Given the description of an element on the screen output the (x, y) to click on. 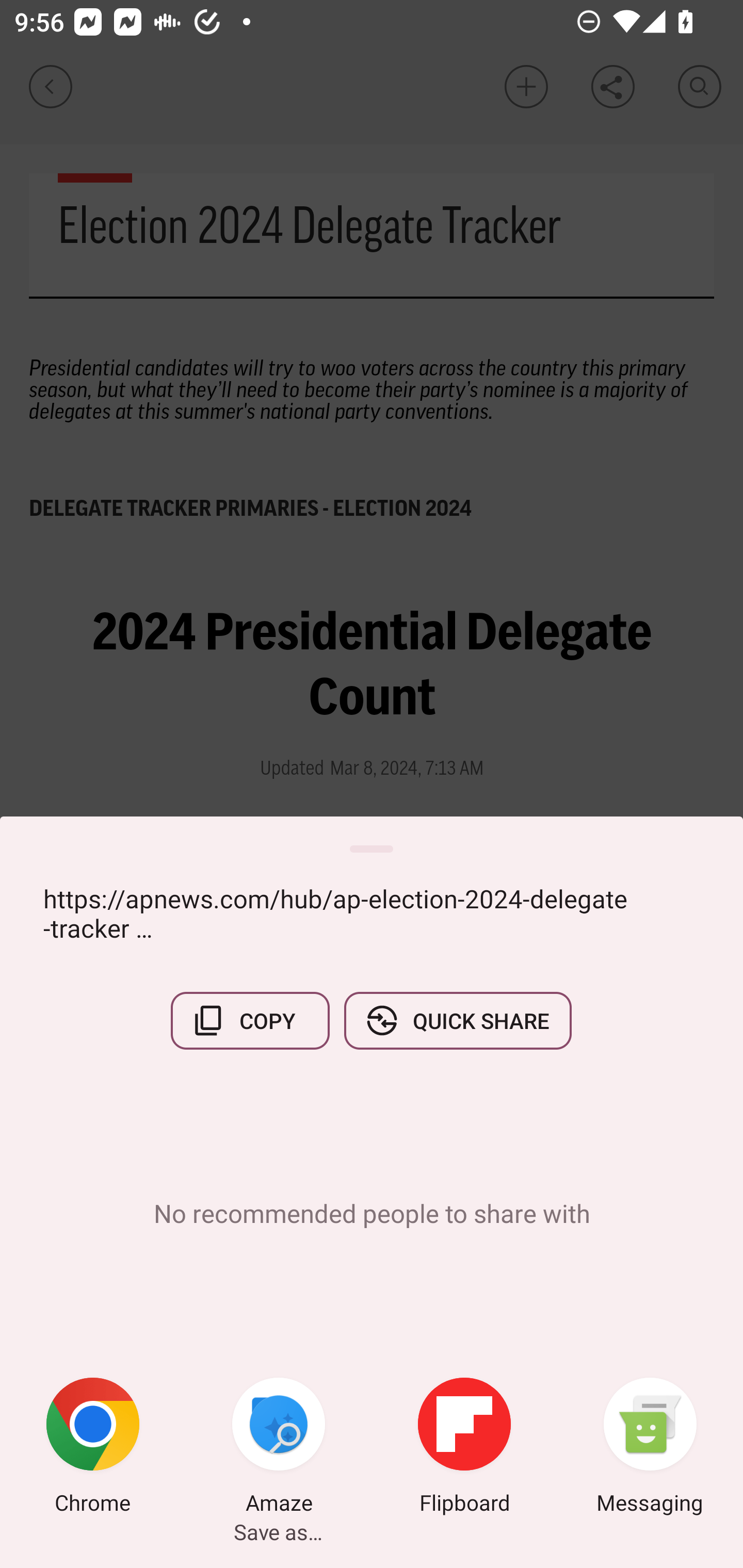
COPY (249, 1020)
QUICK SHARE (457, 1020)
Chrome (92, 1448)
Amaze Save as… (278, 1448)
Flipboard (464, 1448)
Messaging (650, 1448)
